Given the description of an element on the screen output the (x, y) to click on. 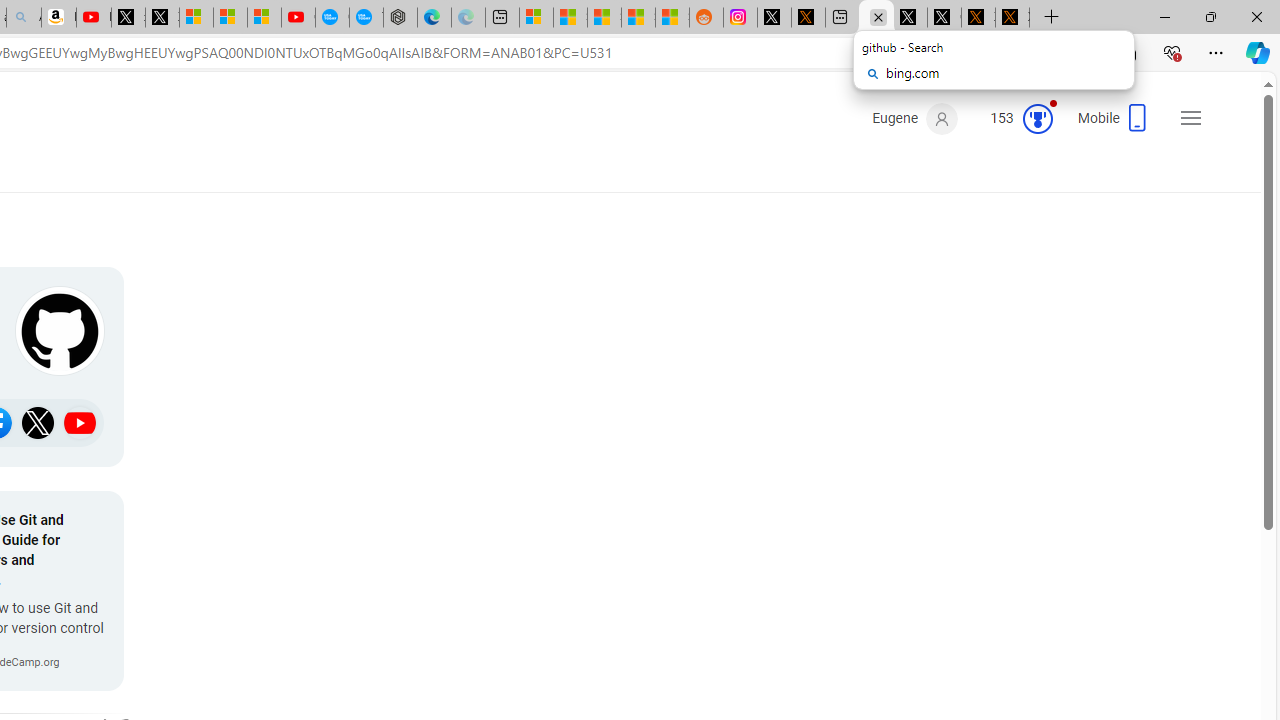
help.x.com | 524: A timeout occurred (808, 17)
Mobile (1114, 124)
GitHub (@github) / X (944, 17)
Class: medal-circled (1037, 118)
X Privacy Policy (1012, 17)
Opinion: Op-Ed and Commentary - USA TODAY (332, 17)
Settings and quick links (1190, 117)
Shanghai, China hourly forecast | Microsoft Weather (603, 17)
